Given the description of an element on the screen output the (x, y) to click on. 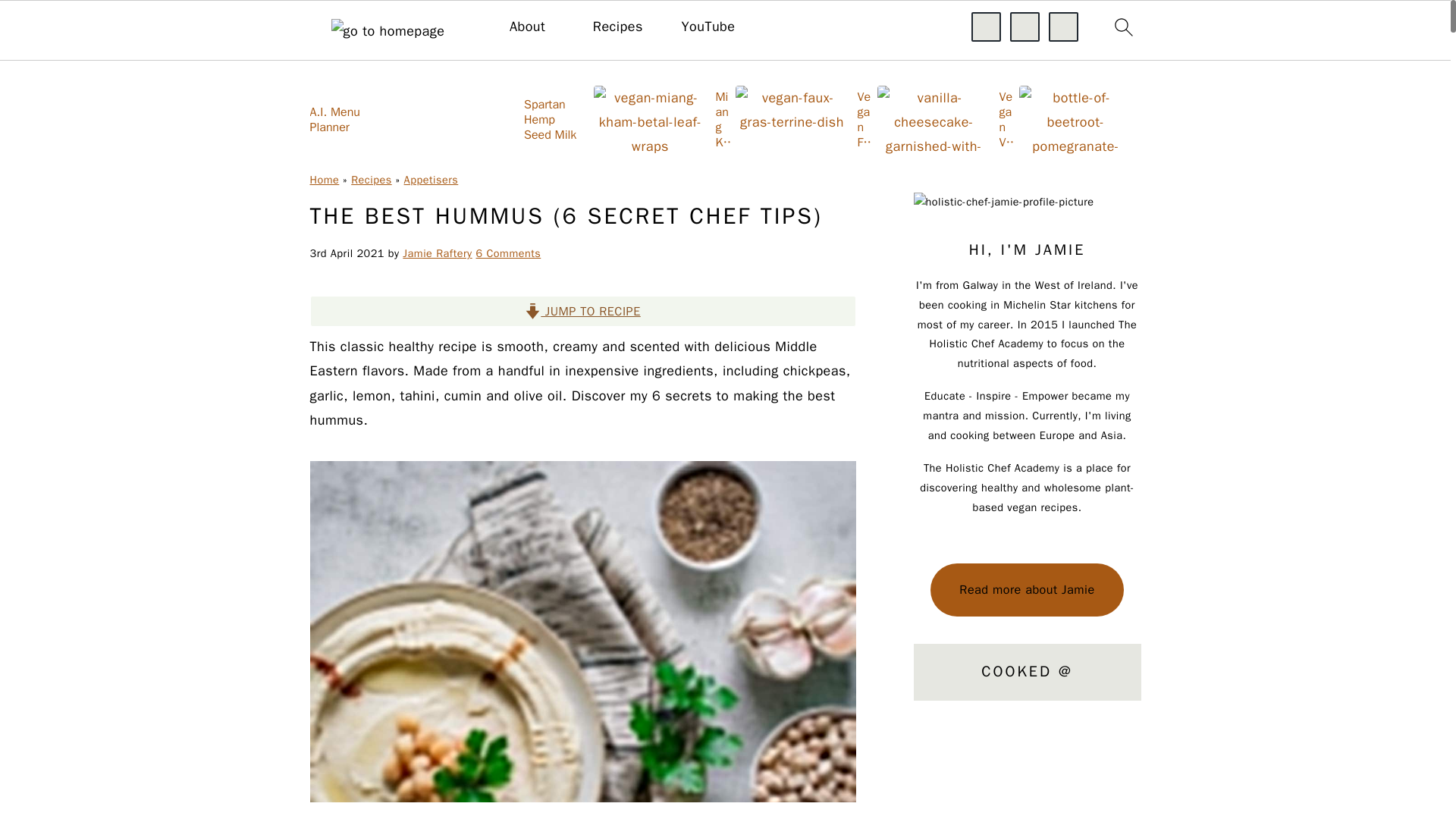
YouTube (708, 27)
Appetisers (431, 179)
Recipes (617, 27)
Spartan Hemp Seed Milk (519, 118)
About (526, 27)
Recipes (370, 179)
Home (323, 179)
A.I. Menu Planner (376, 118)
Vegan Faux Gras Terrine (803, 118)
